Given the description of an element on the screen output the (x, y) to click on. 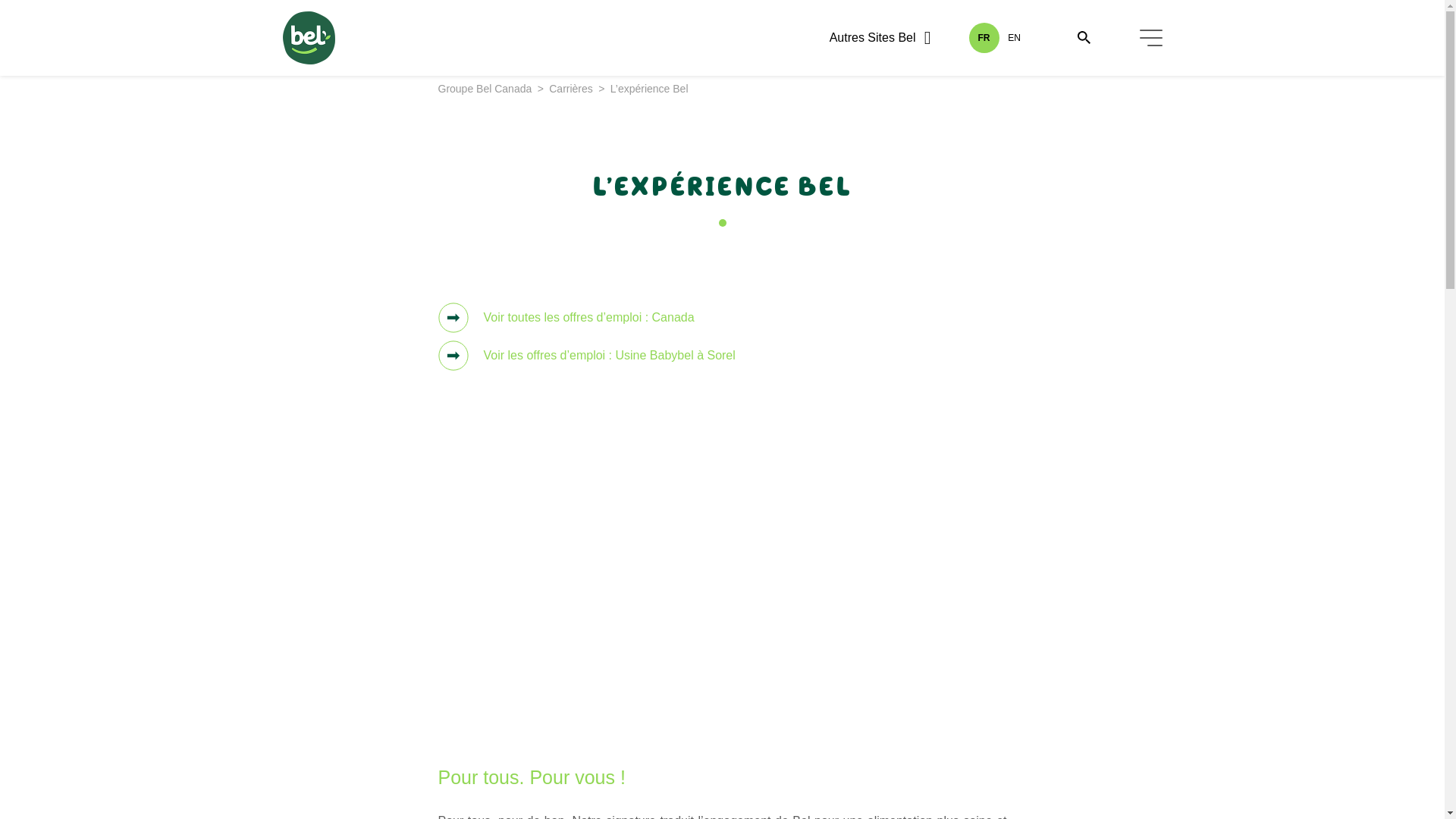
EN Element type: text (1014, 37)
Groupe Bel Canada Element type: text (485, 88)
FR Element type: text (984, 37)
Recherche Element type: text (16, 16)
